Given the description of an element on the screen output the (x, y) to click on. 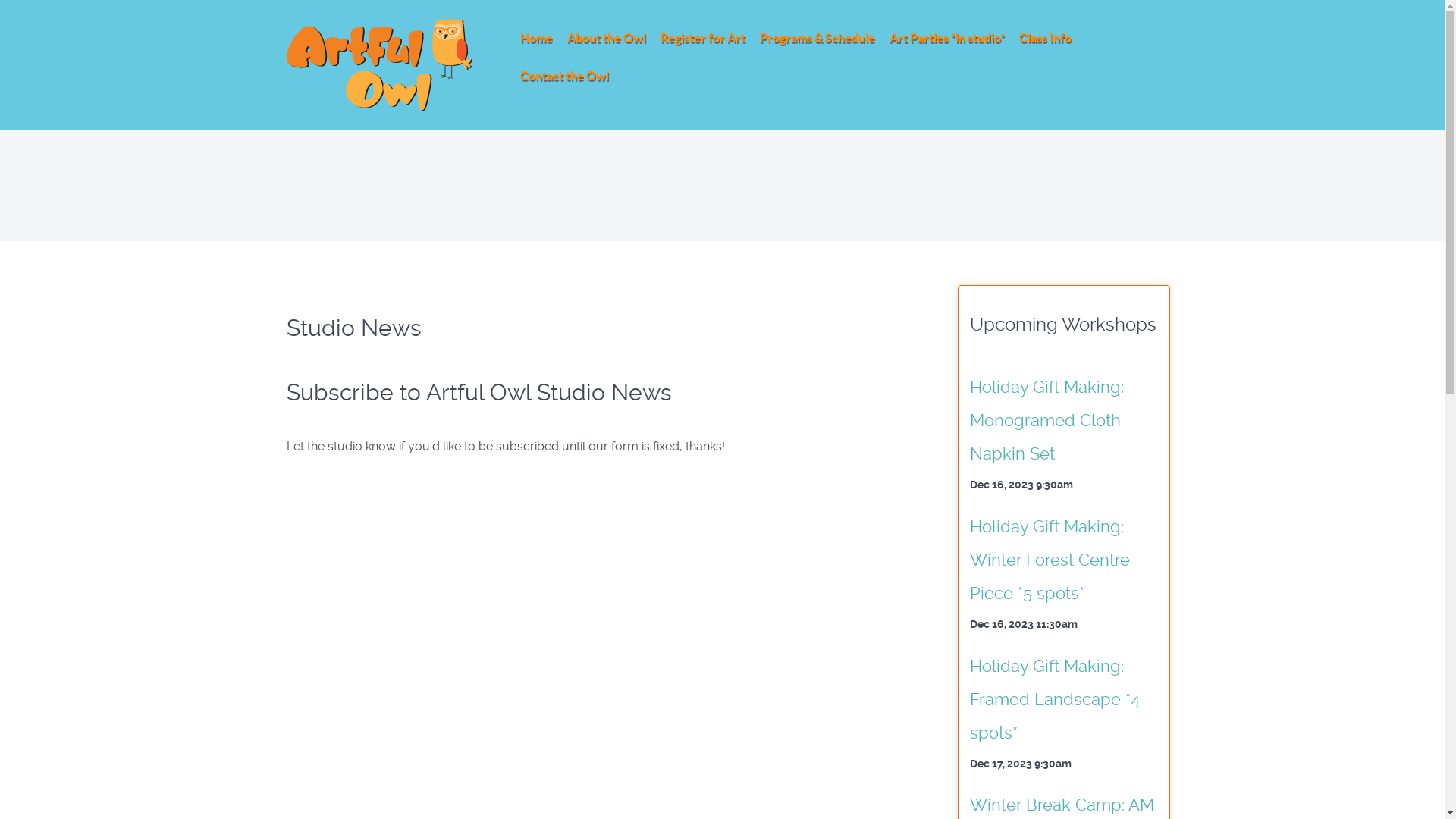
Home Element type: text (536, 39)
Contact the Owl Element type: text (564, 76)
Class Info Element type: text (1045, 39)
Art Parties *in studio* Element type: text (946, 39)
Holiday Gift Making: Monogramed Cloth Napkin Set Element type: text (1046, 419)
Register for Art Element type: text (701, 39)
Holiday Gift Making: Framed Landscape *4 spots* Element type: text (1054, 698)
About the Owl Element type: text (606, 39)
Programs & Schedule Element type: text (817, 39)
Holiday Gift Making: Winter Forest Centre Piece *5 spots* Element type: text (1049, 559)
